Given the description of an element on the screen output the (x, y) to click on. 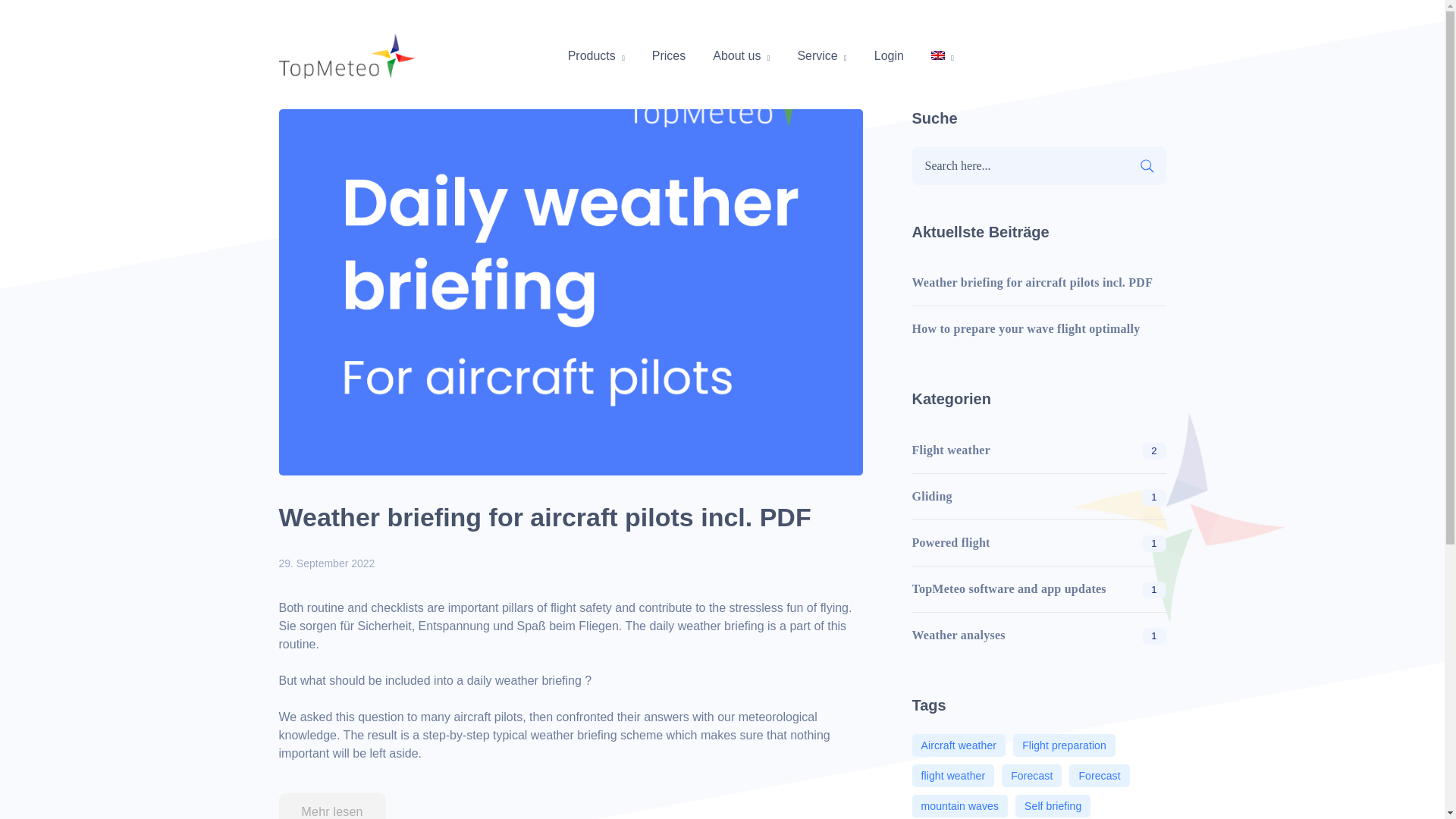
mountain waves (959, 805)
Weather briefing for aircraft pilots incl. PDF (1032, 282)
Powered flight (950, 542)
Search for: (1038, 166)
Self briefing (1052, 805)
How to prepare your wave flight optimally (1025, 328)
Mehr lesen (332, 806)
Weather analyses (957, 635)
Flight preparation (1064, 744)
Mehr lesen (332, 806)
